Given the description of an element on the screen output the (x, y) to click on. 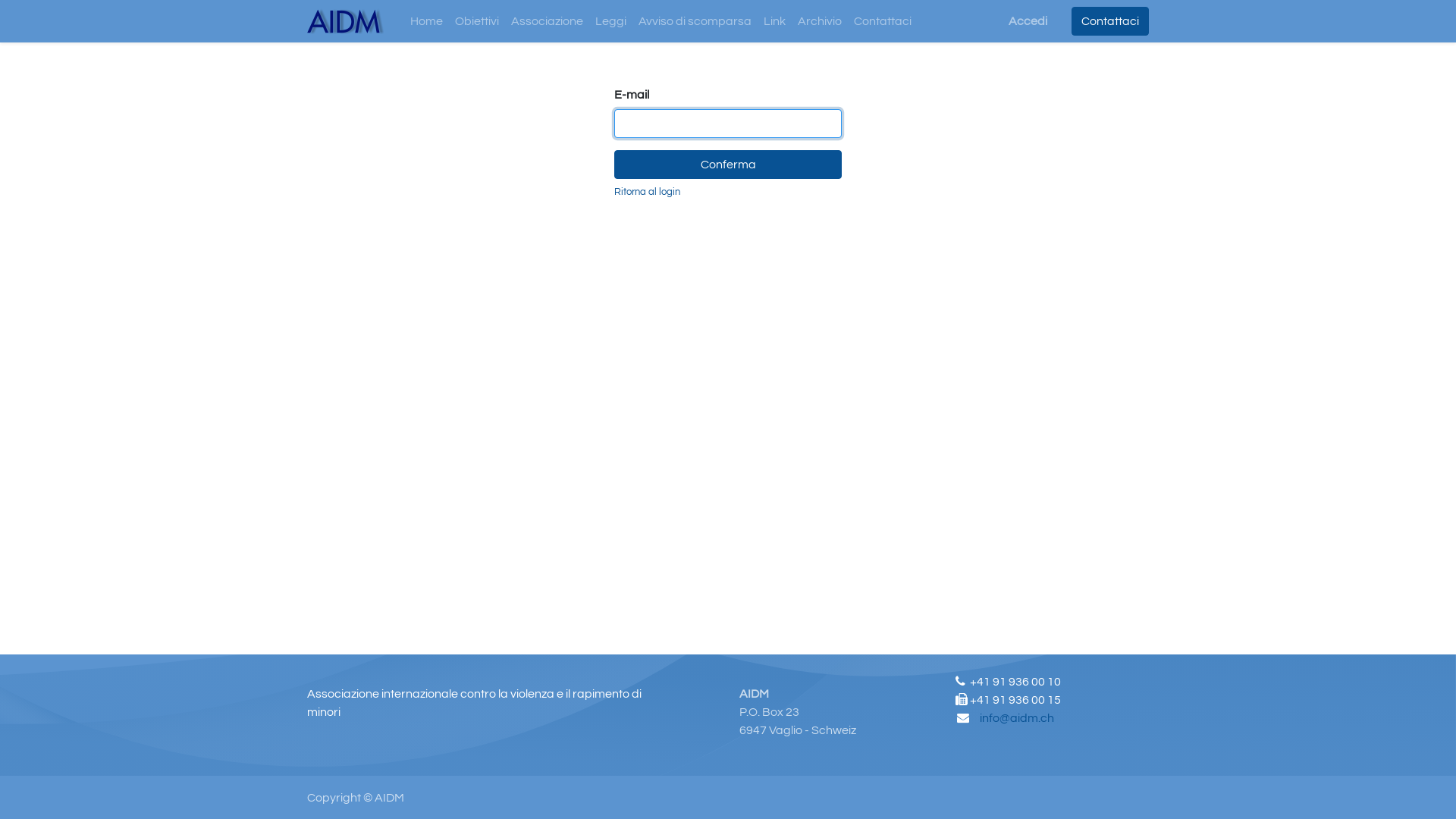
Obiettivi Element type: text (476, 21)
AIDM Element type: hover (346, 21)
Leggi Element type: text (610, 21)
Accedi Element type: text (1027, 21)
info@aidm.ch Element type: text (1016, 718)
Archivio Element type: text (819, 21)
Avviso di scomparsa Element type: text (694, 21)
Associazione Element type: text (547, 21)
Contattaci Element type: text (1109, 20)
Home Element type: text (426, 21)
Ritorna al login Element type: text (647, 192)
Link Element type: text (774, 21)
Conferma Element type: text (727, 164)
Contattaci Element type: text (882, 21)
